Given the description of an element on the screen output the (x, y) to click on. 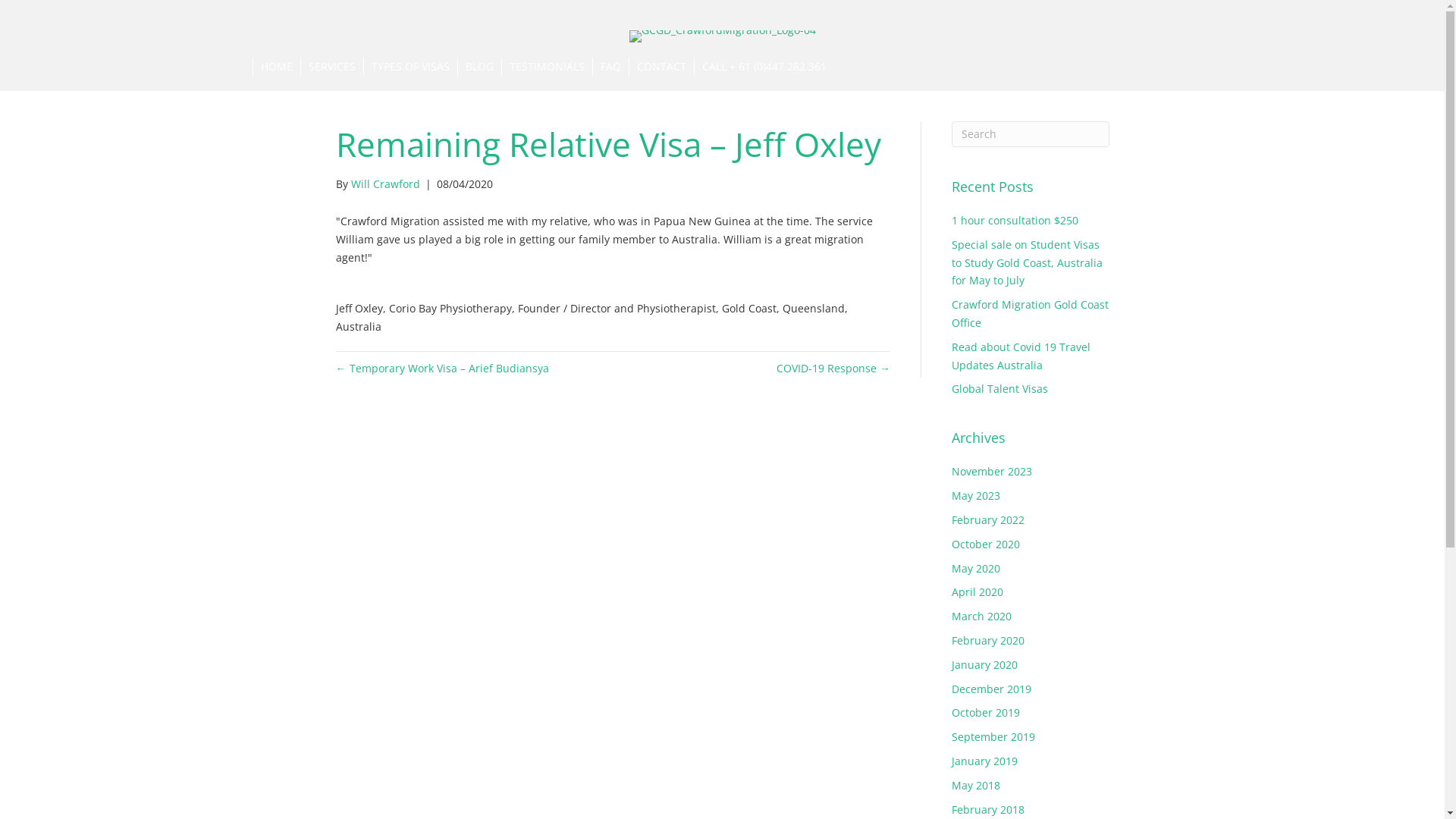
October 2020 Element type: text (985, 543)
1 hour consultation $250 Element type: text (1014, 220)
HOME Element type: text (275, 66)
Crawford Migration Gold Coast Office Element type: text (1029, 313)
January 2019 Element type: text (984, 760)
TYPES OF VISAS Element type: text (409, 66)
Global Talent Visas Element type: text (999, 388)
November 2023 Element type: text (991, 471)
BLOG Element type: text (478, 66)
GCGD_CrawfordMigration_Logo-04 Element type: hover (722, 36)
April 2020 Element type: text (977, 591)
Read about Covid 19 Travel Updates Australia Element type: text (1020, 355)
May 2018 Element type: text (975, 785)
March 2020 Element type: text (981, 615)
September 2019 Element type: text (993, 736)
FAQ Element type: text (609, 66)
Will Crawford Element type: text (384, 183)
CALL + 61 (0)447 282 361 Element type: text (763, 66)
February 2018 Element type: text (987, 809)
May 2023 Element type: text (975, 495)
Type and press Enter to search. Element type: hover (1030, 134)
January 2020 Element type: text (984, 664)
October 2019 Element type: text (985, 712)
TESTIMONIALS Element type: text (545, 66)
February 2022 Element type: text (987, 519)
SERVICES Element type: text (331, 66)
May 2020 Element type: text (975, 568)
December 2019 Element type: text (991, 688)
CONTACT Element type: text (660, 66)
February 2020 Element type: text (987, 640)
